Given the description of an element on the screen output the (x, y) to click on. 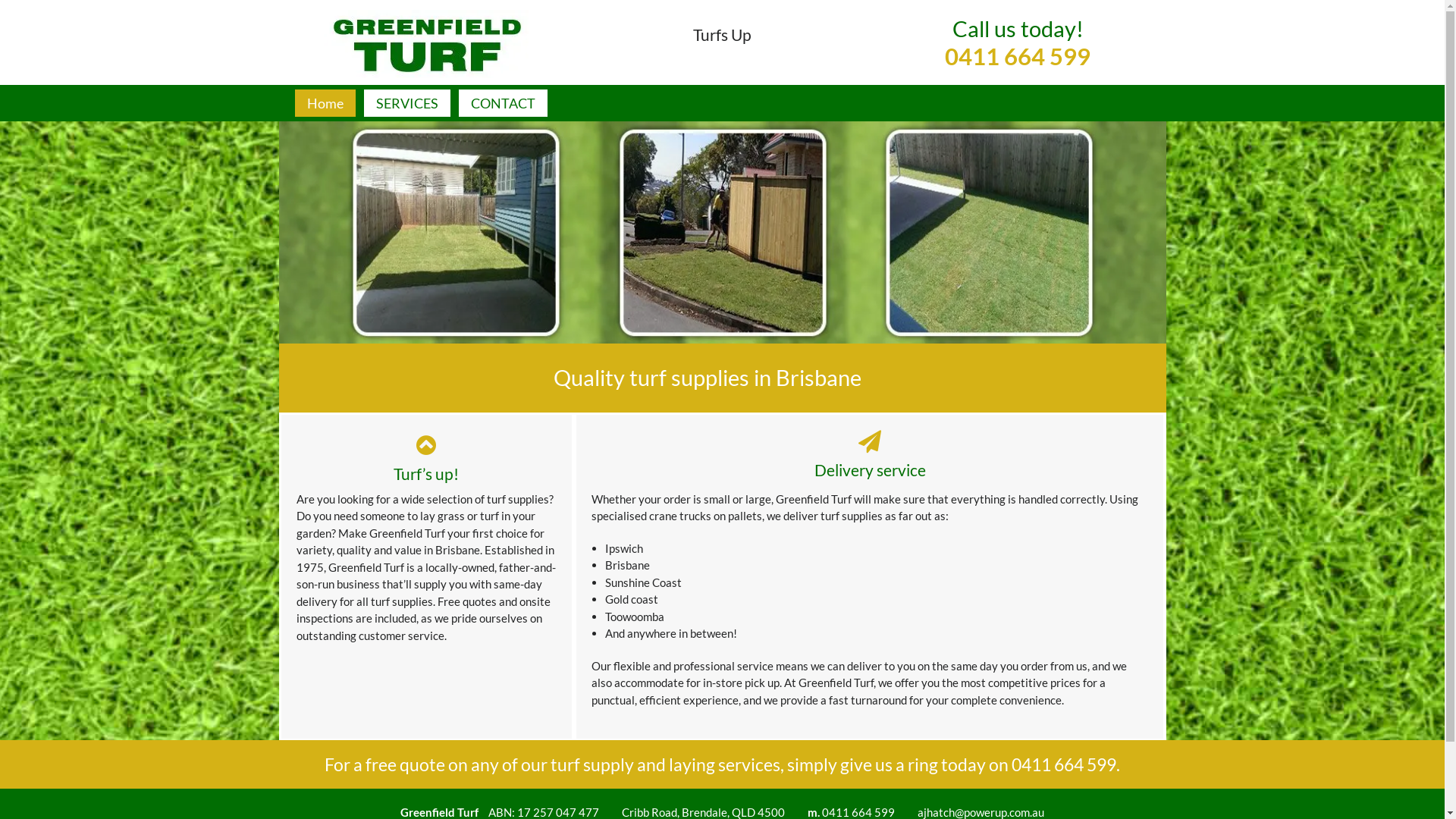
SERVICES Element type: text (407, 103)
0411 664 599 Element type: text (1063, 764)
CONTACT Element type: text (502, 103)
greenfield turf on home Element type: hover (722, 232)
0411 664 599 Element type: text (1017, 70)
greenfield turf logo Element type: hover (425, 43)
Home Element type: text (324, 103)
